Given the description of an element on the screen output the (x, y) to click on. 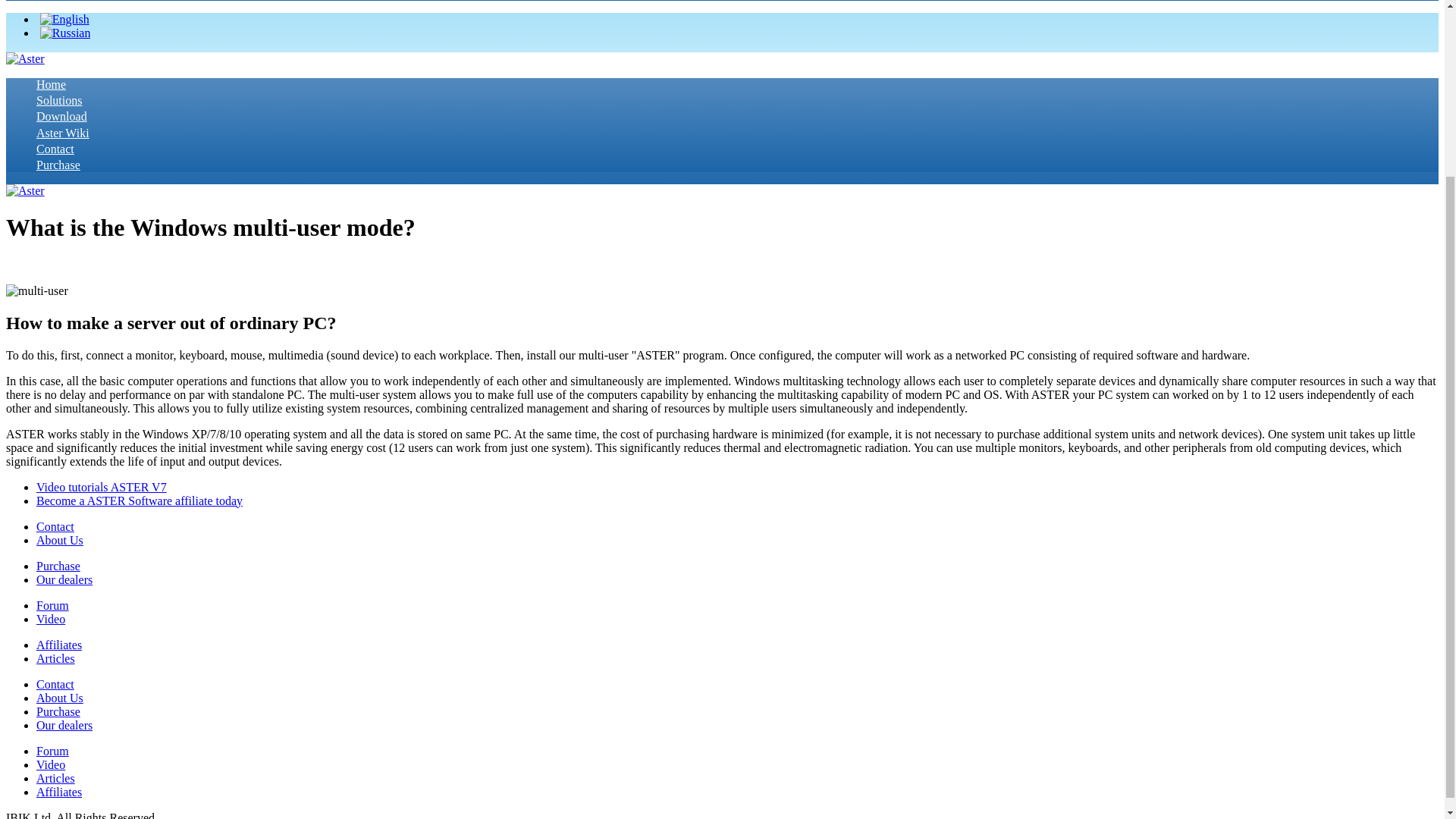
Contact (55, 526)
Solutions (58, 100)
About Us (59, 540)
Our dealers (64, 725)
Affiliates (58, 644)
Russian (65, 33)
About Us (59, 697)
Purchase (58, 565)
Purchase (58, 711)
Contact (55, 148)
Aster Wiki (62, 132)
Home (50, 83)
Video (50, 618)
Download (61, 115)
Forum (52, 604)
